Given the description of an element on the screen output the (x, y) to click on. 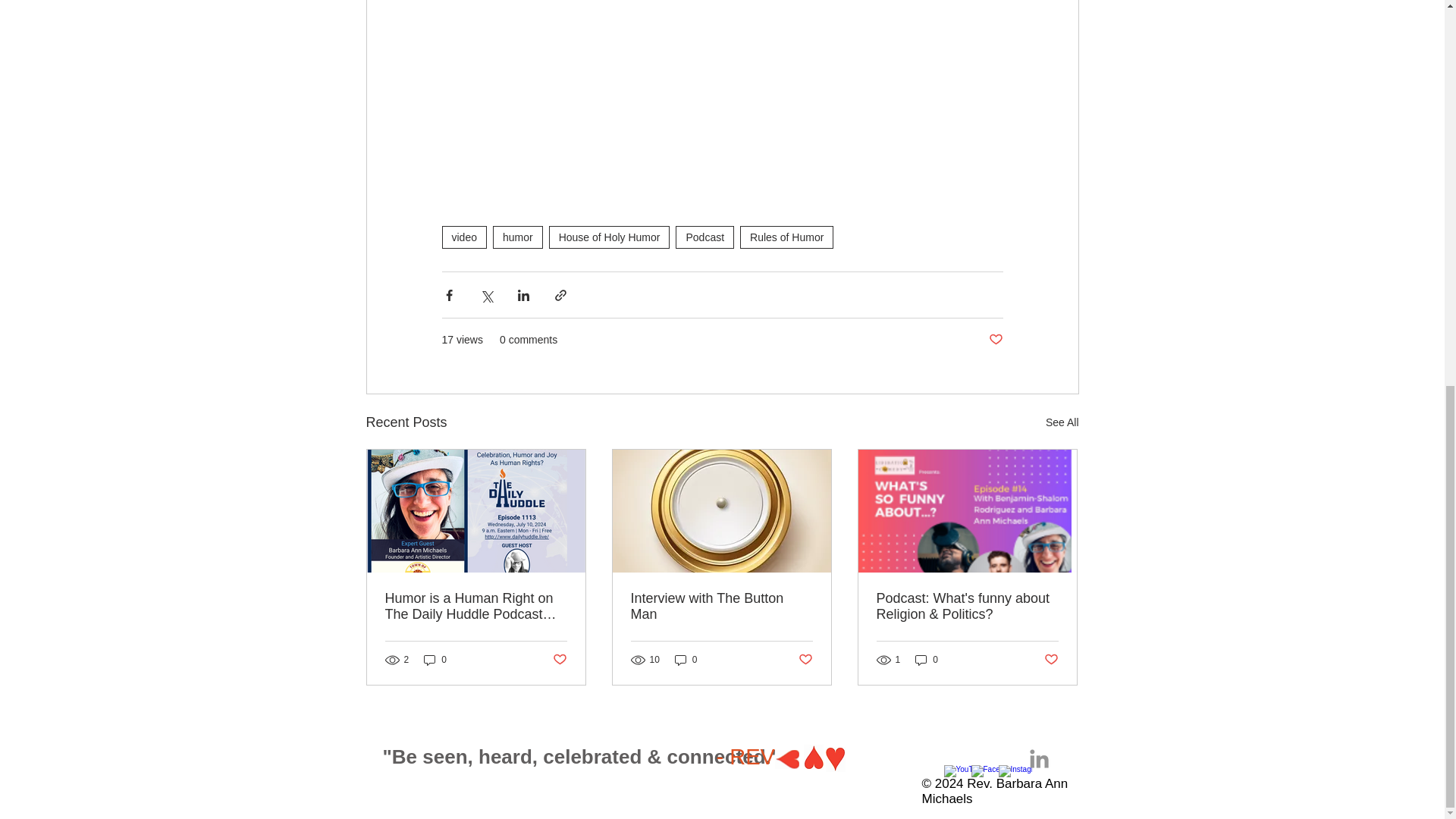
Post not marked as liked (995, 340)
Podcast (704, 237)
Post not marked as liked (558, 659)
House of Holy Humor (608, 237)
0 (435, 659)
Interview with The Button Man (721, 606)
Rules of Humor (785, 237)
See All (1061, 422)
video (463, 237)
humor (518, 237)
